Given the description of an element on the screen output the (x, y) to click on. 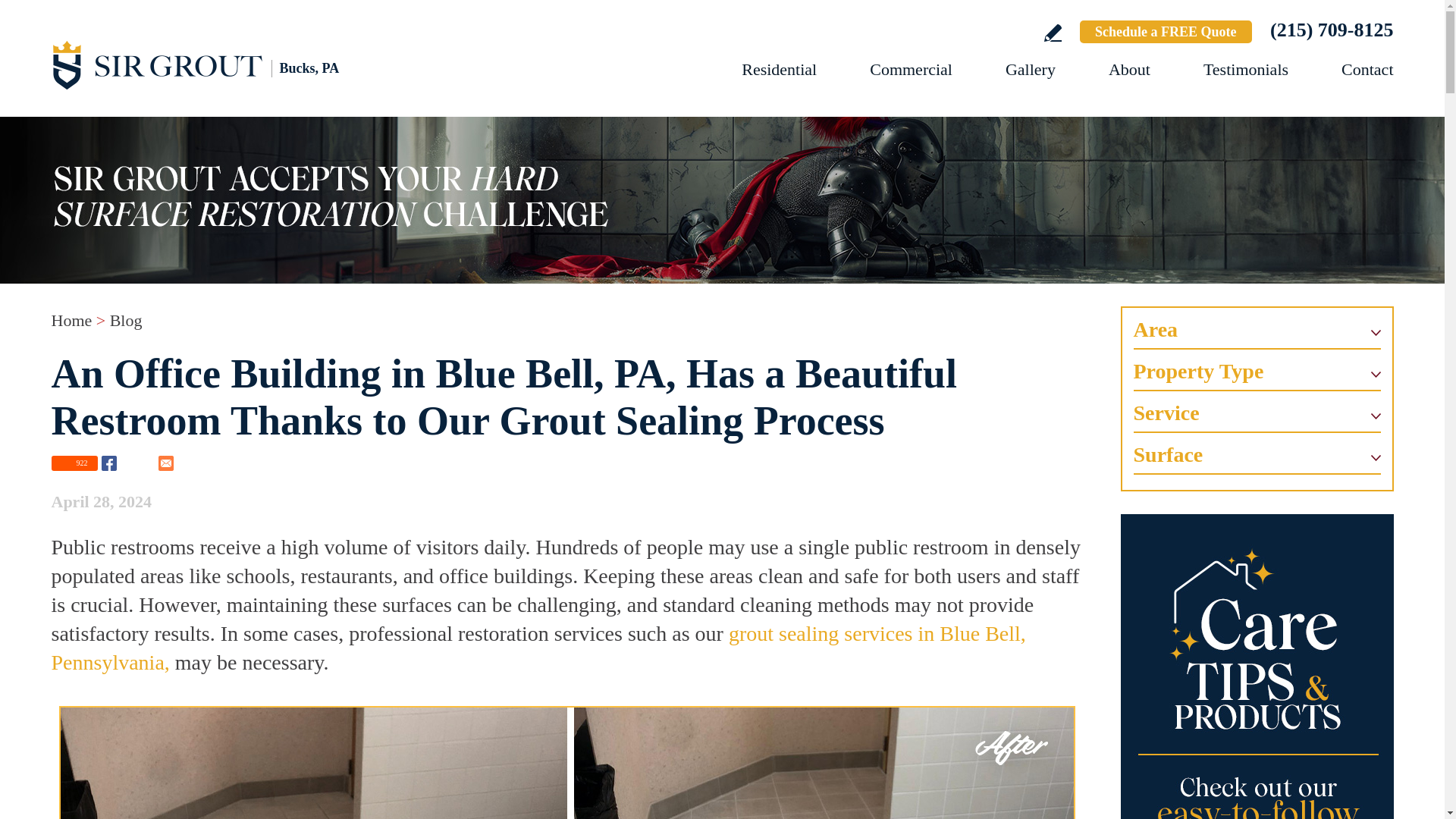
Schedule a FREE Quote (1166, 31)
Residential (778, 68)
Schedule a FREE Quote (1166, 31)
Sir Grout Bucks (217, 64)
Testimonials (1246, 68)
Commercial (910, 68)
Write a Review (1052, 32)
Call Sir Grout Bucks PA (1331, 29)
Write a Review (1052, 32)
Bucks, PA (217, 64)
Gallery (1030, 68)
Contact (1366, 68)
About (1129, 68)
Residential Services (778, 68)
